Given the description of an element on the screen output the (x, y) to click on. 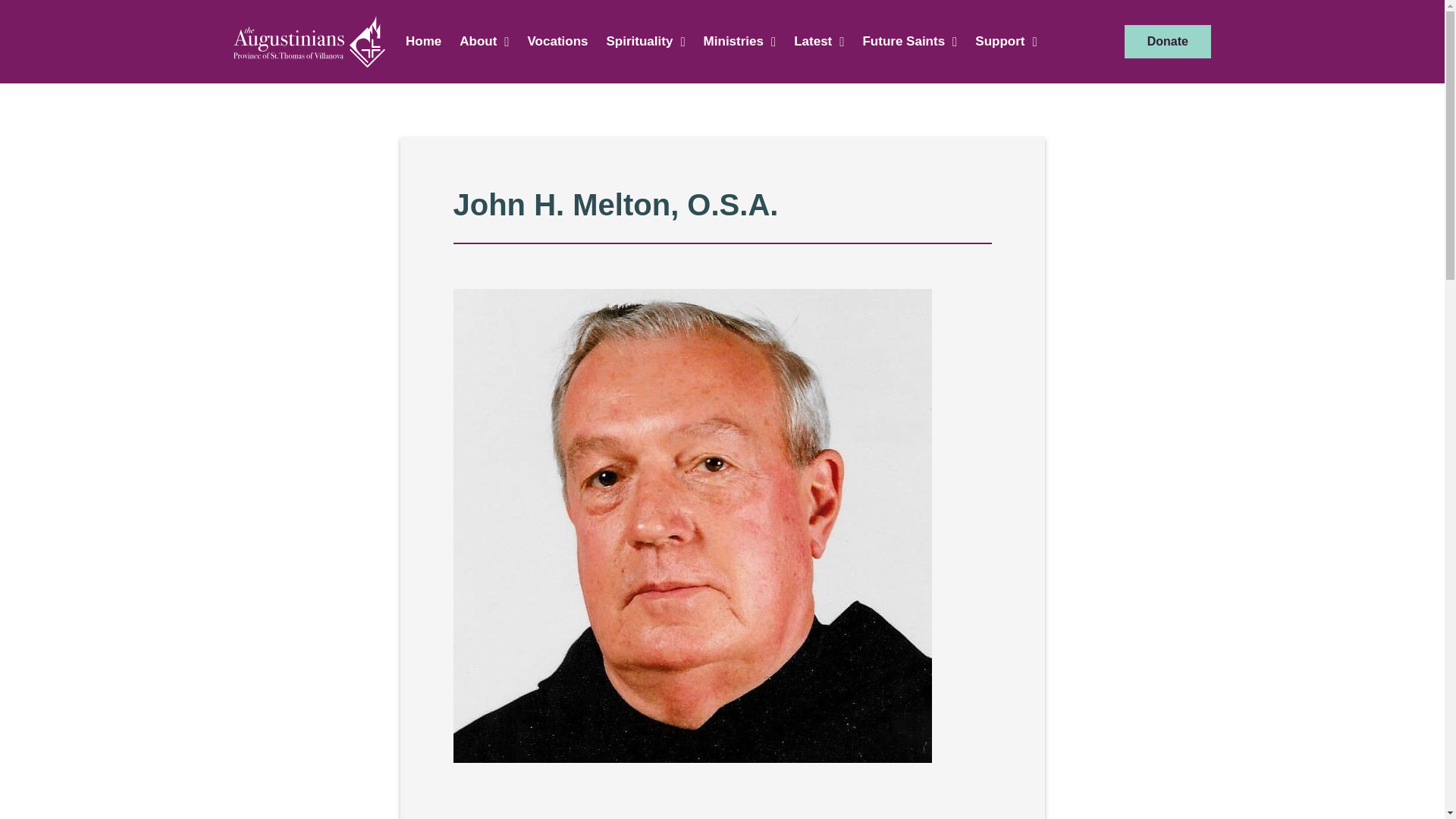
Support (1005, 41)
Donate (1167, 41)
Ministries (740, 41)
Vocations (557, 41)
Spirituality (645, 41)
Future Saints (909, 41)
About (483, 41)
Latest (818, 41)
Home (422, 41)
